Given the description of an element on the screen output the (x, y) to click on. 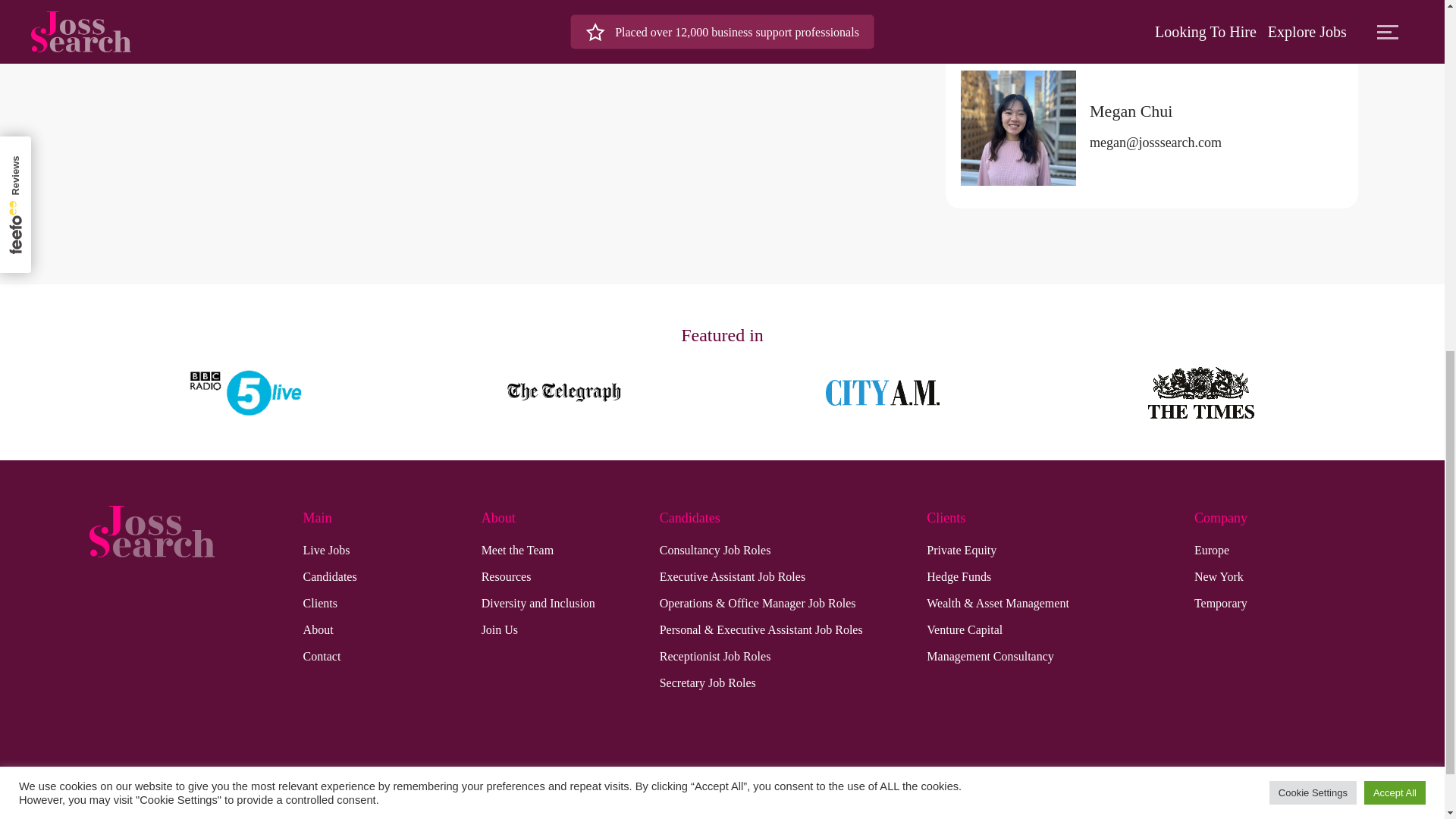
Clients (319, 603)
Join Us (499, 629)
About (317, 629)
Meet the Team (517, 550)
Candidates (329, 577)
Diversity and Inclusion (538, 603)
Contact (321, 656)
Megan Chui (1155, 109)
Live Jobs (326, 550)
Resources (506, 577)
